Given the description of an element on the screen output the (x, y) to click on. 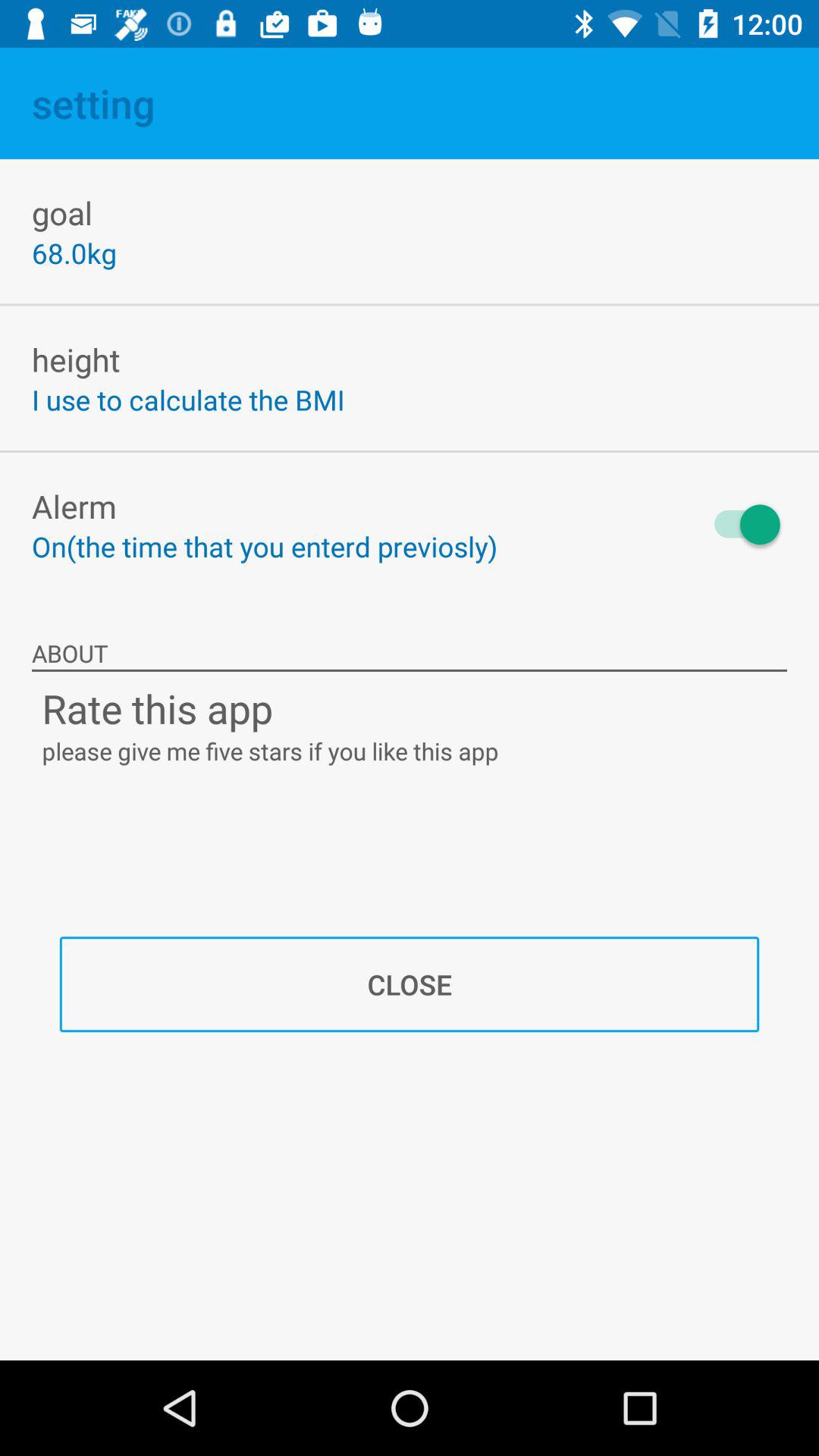
click close (409, 984)
select two text lines below about (409, 724)
